Given the description of an element on the screen output the (x, y) to click on. 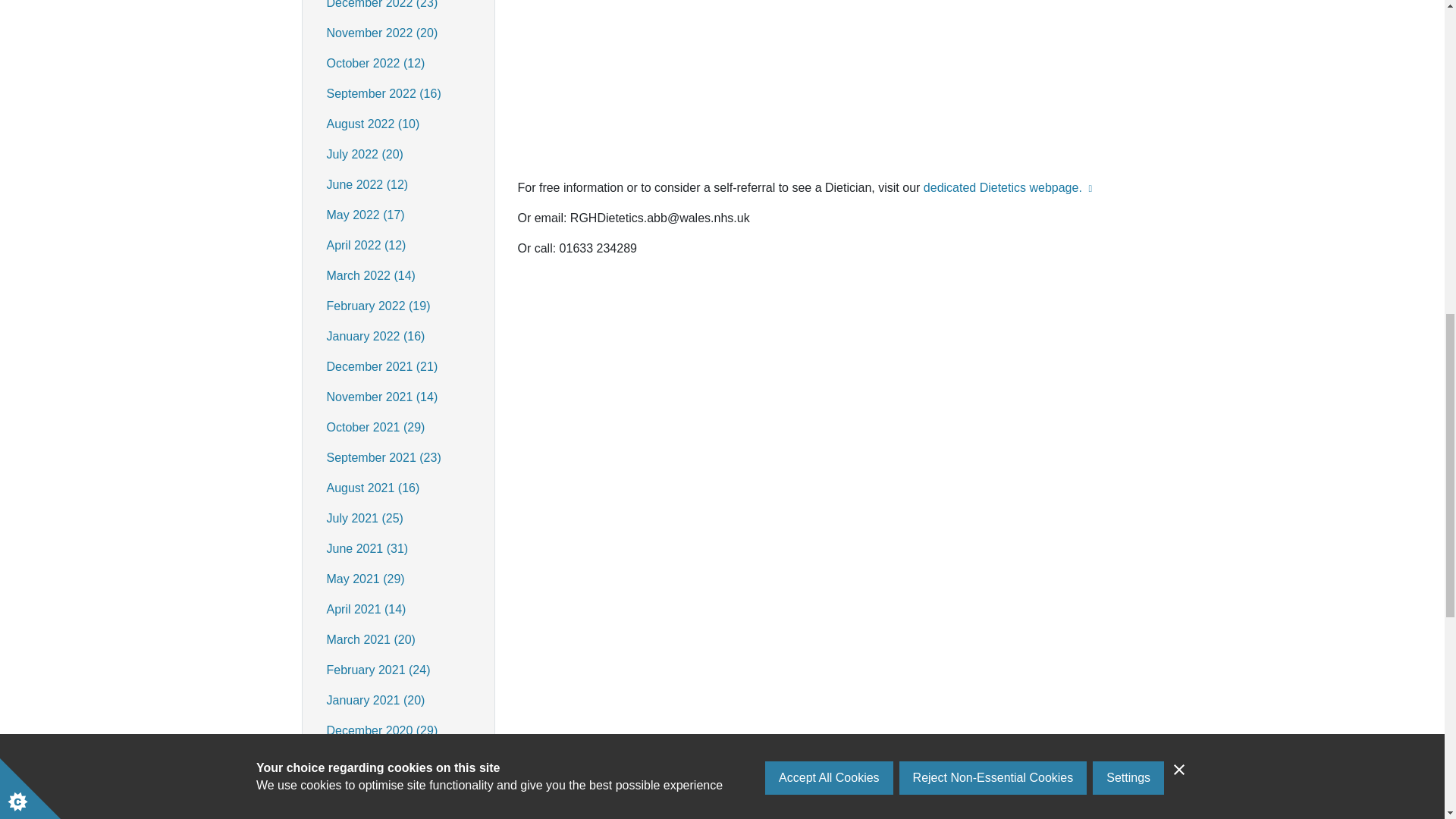
Accept All Cookies (829, 12)
Settings (1128, 0)
Reject Non-Essential Cookies (993, 5)
